Given the description of an element on the screen output the (x, y) to click on. 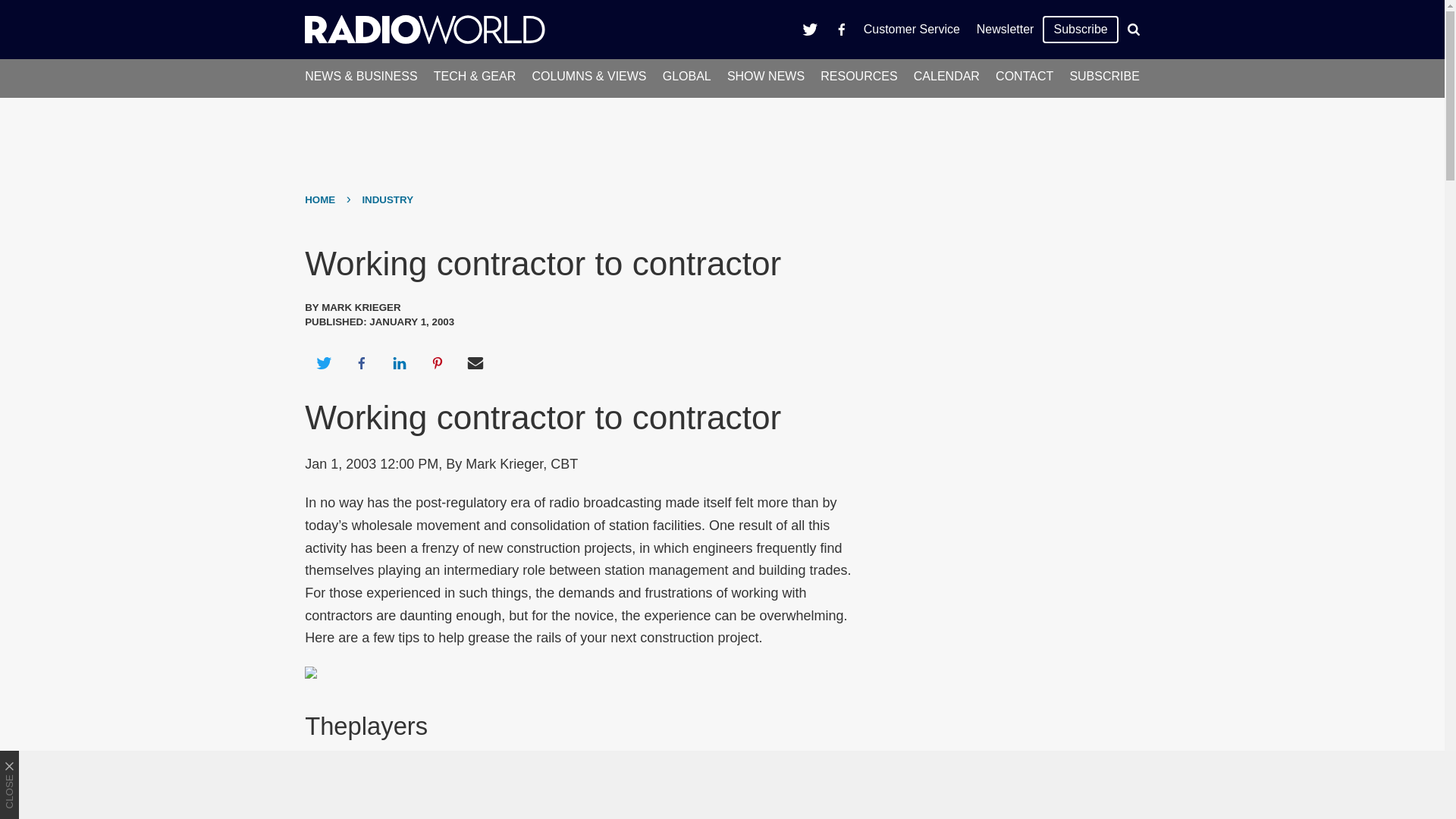
Customer Service (912, 29)
Share on Pinterest (438, 362)
Share on LinkedIn (399, 362)
Share via Email (476, 362)
Share on Twitter (323, 362)
Share on Facebook (361, 362)
